Given the description of an element on the screen output the (x, y) to click on. 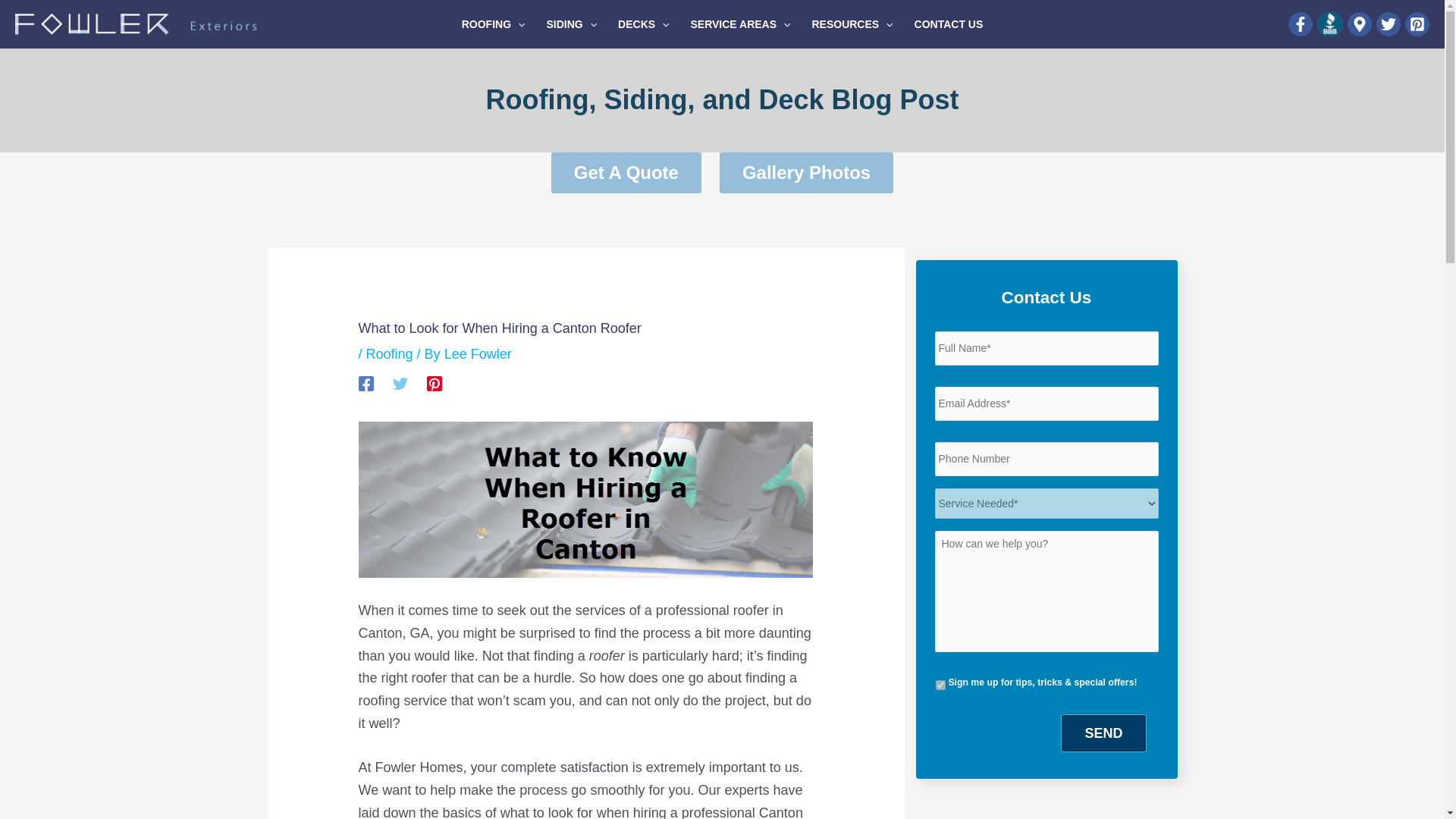
ROOFING (493, 23)
SIDING (571, 23)
View all posts by Lee Fowler (478, 353)
SEND (1103, 733)
DECKS (643, 23)
SERVICE AREAS (739, 23)
